Given the description of an element on the screen output the (x, y) to click on. 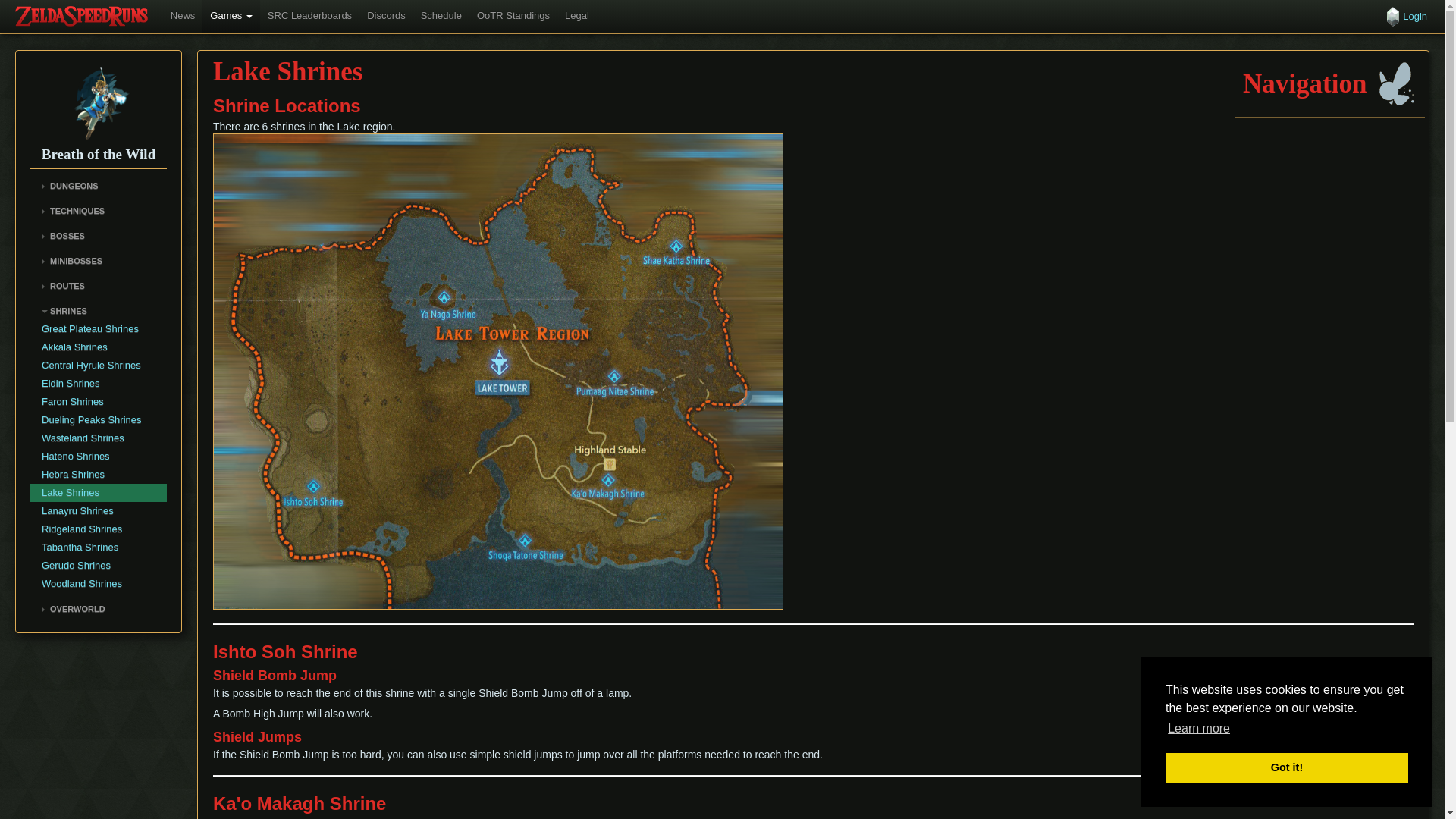
Schedule (440, 16)
News (183, 16)
Learn more (1198, 728)
SRC Leaderboards (309, 16)
Discords (386, 16)
OoTR Standings (512, 16)
Games (231, 16)
Got it! (1286, 767)
